Given the description of an element on the screen output the (x, y) to click on. 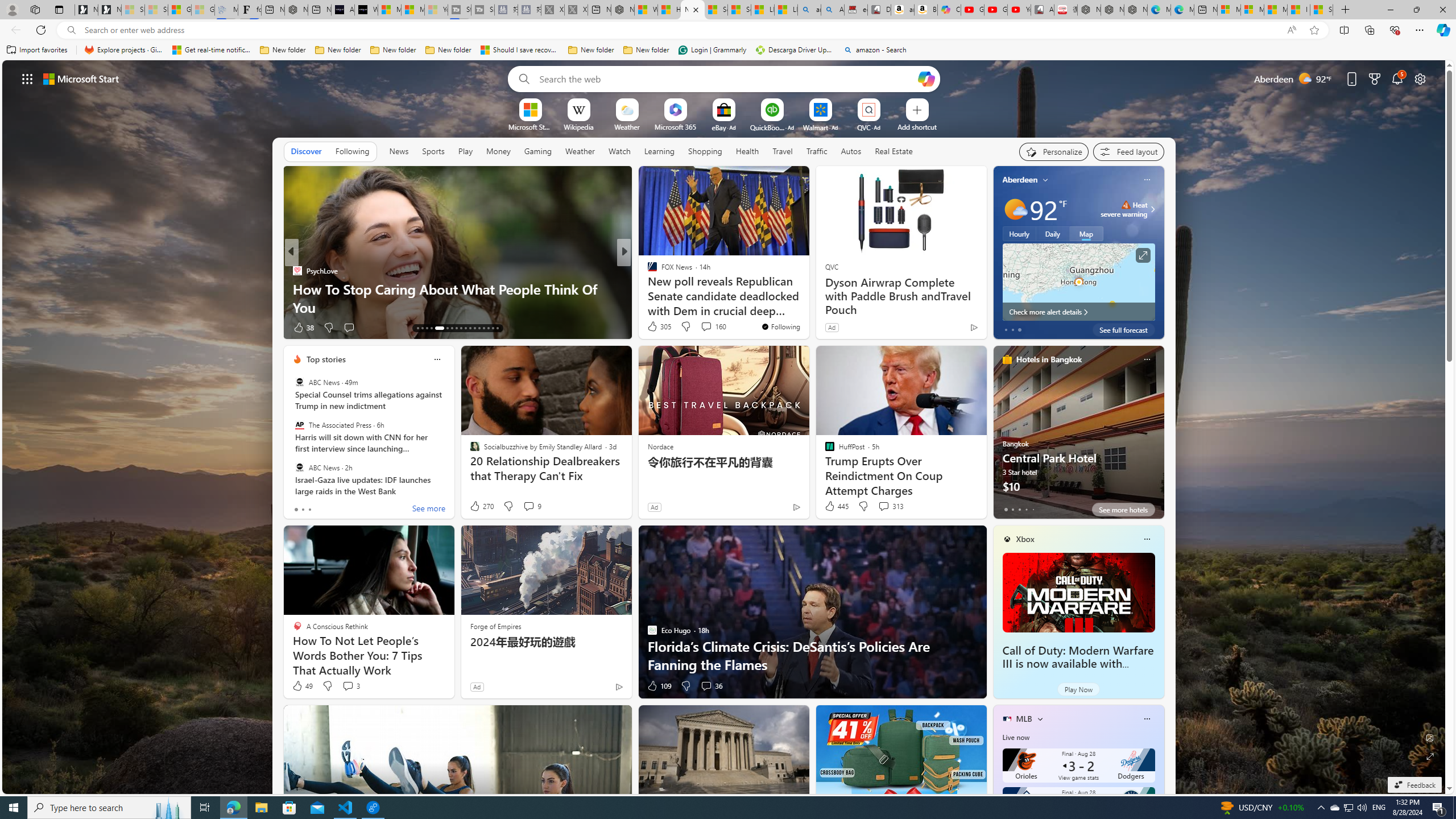
previous (998, 252)
94 Like (652, 327)
Import favorites (36, 49)
Descarga Driver Updater (794, 49)
hotels-header-icon (1006, 358)
amazon.in/dp/B0CX59H5W7/?tag=gsmcom05-21 (902, 9)
View comments 36 Comment (705, 685)
Microsoft start (81, 78)
See full forecast (1123, 329)
